Given the description of an element on the screen output the (x, y) to click on. 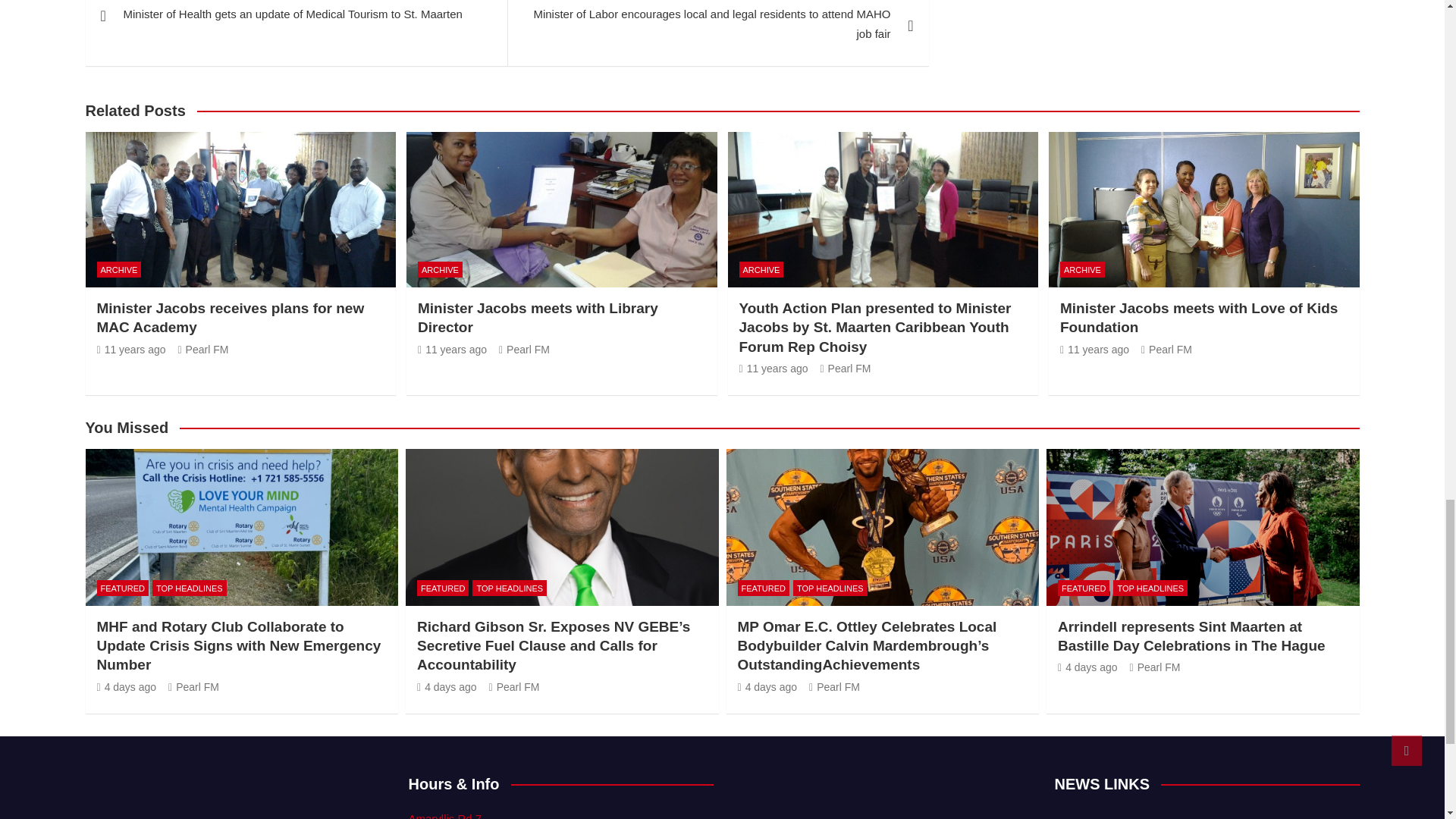
Minister Jacobs receives plans for new MAC Academy (231, 317)
Minister Jacobs meets with Library Director (537, 317)
ARCHIVE (440, 269)
Minister Jacobs receives plans for new MAC Academy (131, 349)
Pearl FM (202, 349)
ARCHIVE (119, 269)
Minister Jacobs meets with Love of Kids Foundation (1094, 349)
Minister Jacobs meets with Library Director (451, 349)
11 years ago (131, 349)
